Given the description of an element on the screen output the (x, y) to click on. 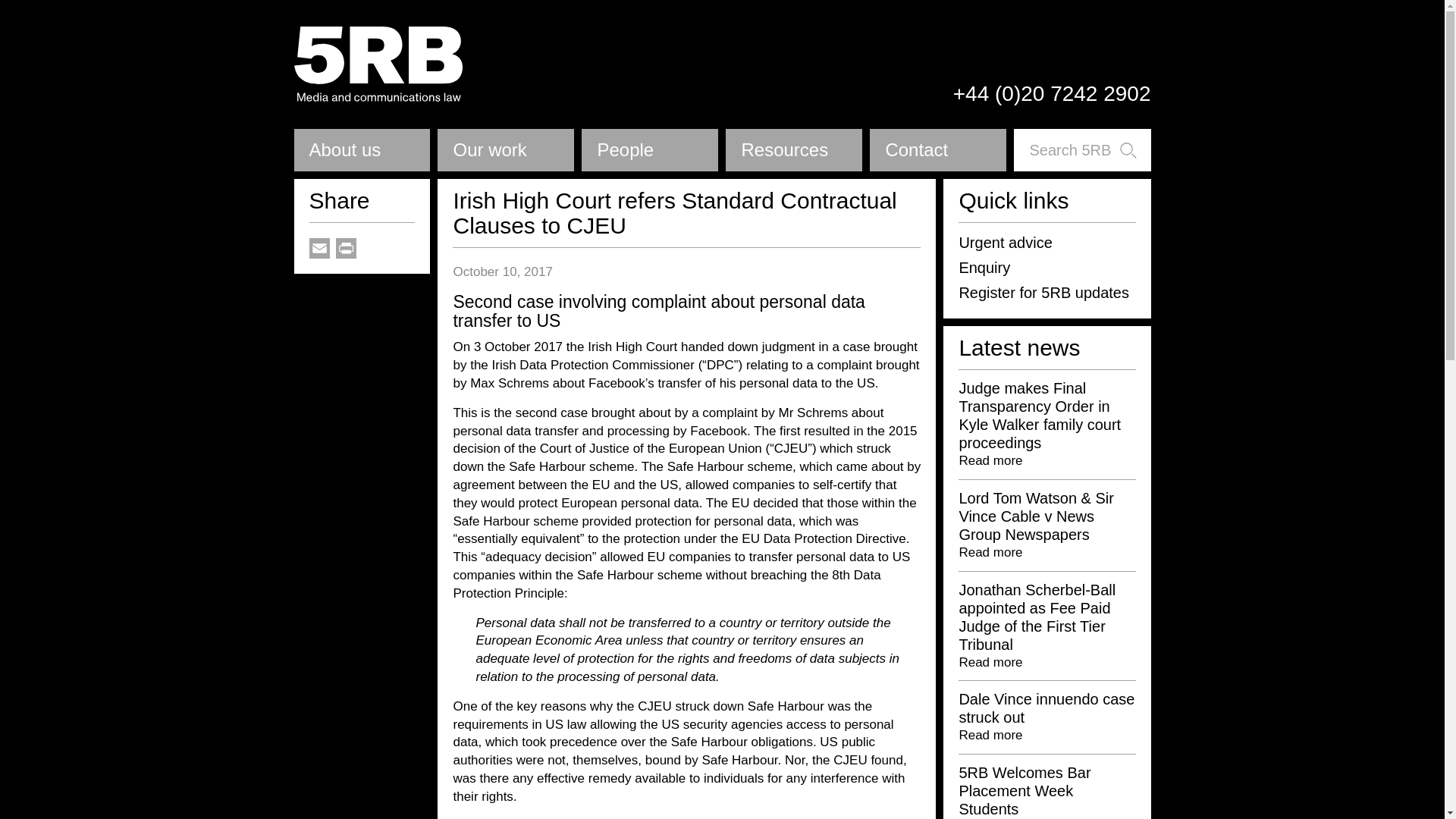
Urgent advice (1004, 242)
Irish Data Protection Commissioner (593, 364)
Our work (505, 149)
handed down judgment (748, 346)
People (648, 149)
Email (322, 244)
Contact (937, 149)
EU Data Protection Directive (823, 538)
Resources (793, 149)
Email (322, 244)
